Given the description of an element on the screen output the (x, y) to click on. 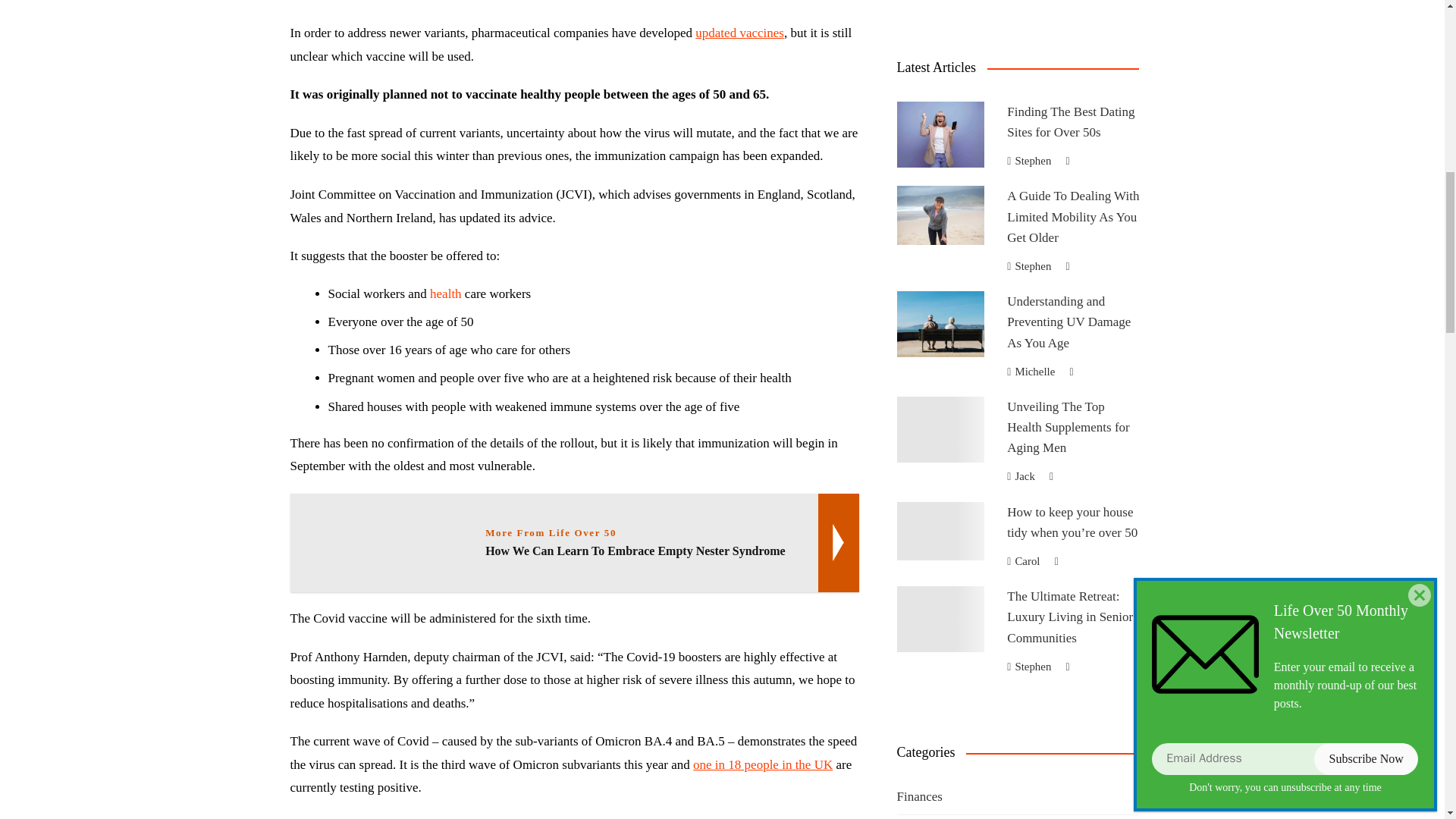
health (445, 293)
one in 18 people in the UK (762, 764)
updated vaccines (739, 32)
health (445, 293)
